Given the description of an element on the screen output the (x, y) to click on. 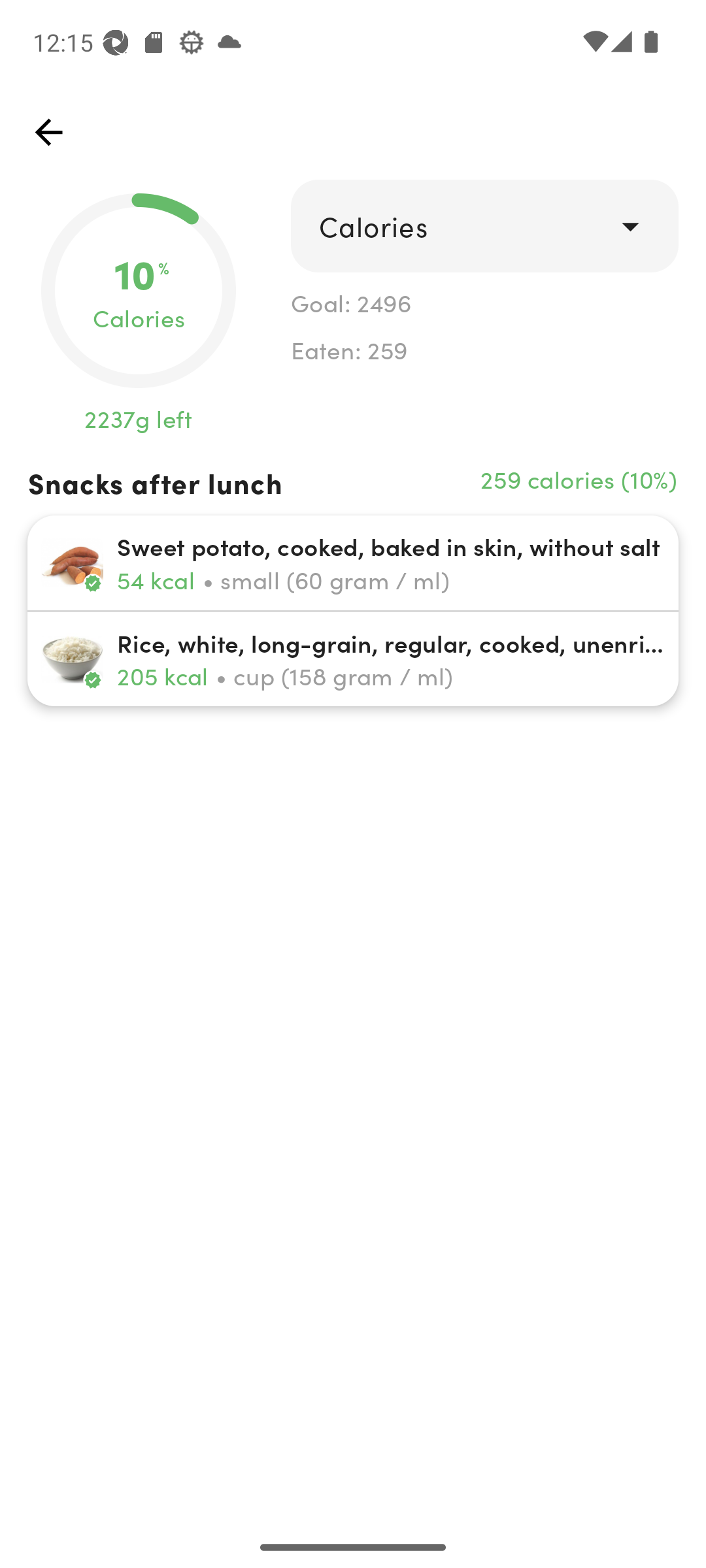
top_left_action (48, 132)
drop_down Calories (484, 226)
